Given the description of an element on the screen output the (x, y) to click on. 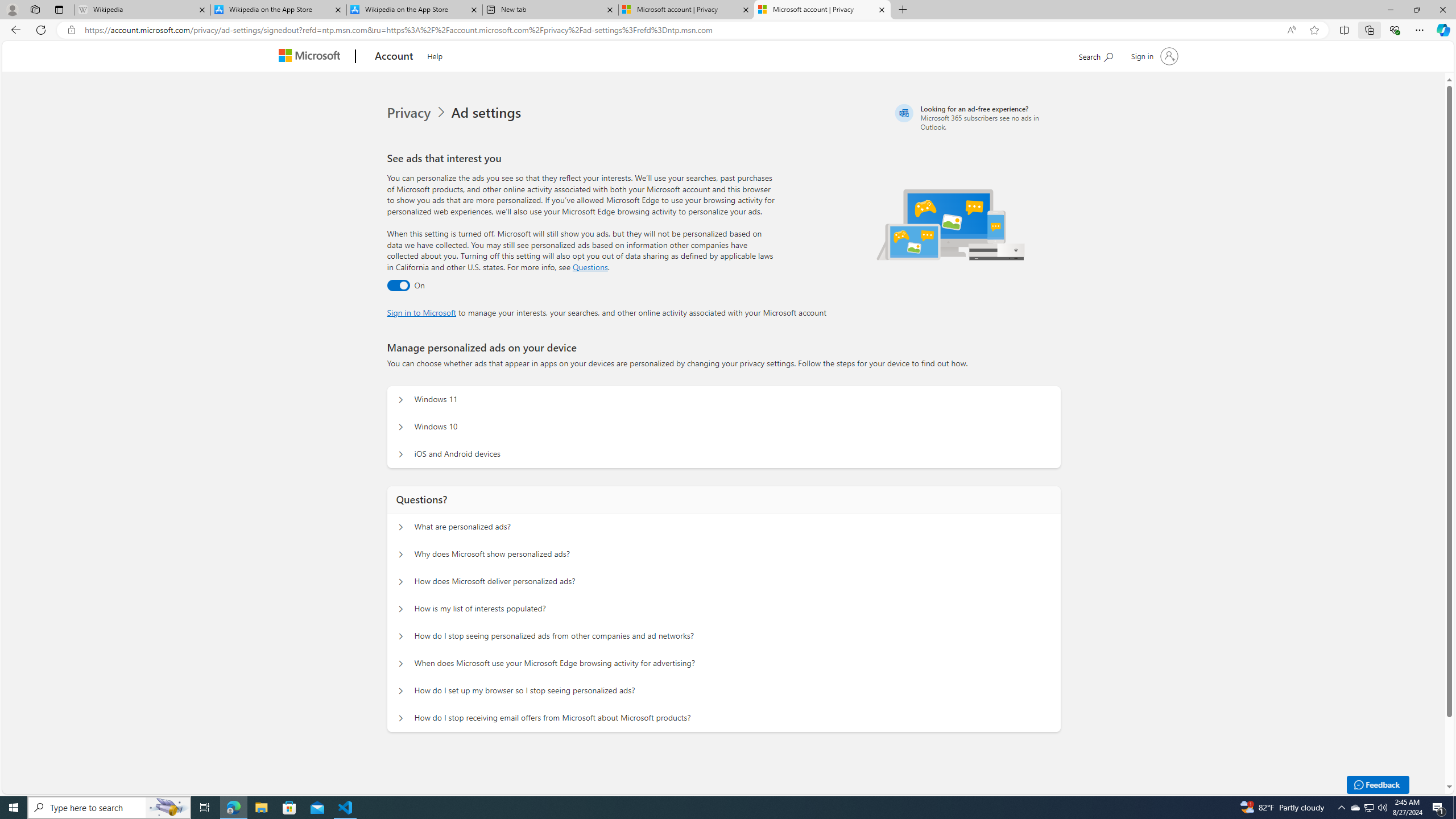
Wikipedia - Sleeping (142, 9)
Sign in to Microsoft (422, 311)
Go to Questions section (590, 266)
Ad settings toggle (398, 285)
Manage personalized ads on your device Windows 11 (401, 400)
Questions? Why does Microsoft show personalized ads? (401, 554)
Looking for an ad-free experience? (976, 117)
Help (435, 54)
